Given the description of an element on the screen output the (x, y) to click on. 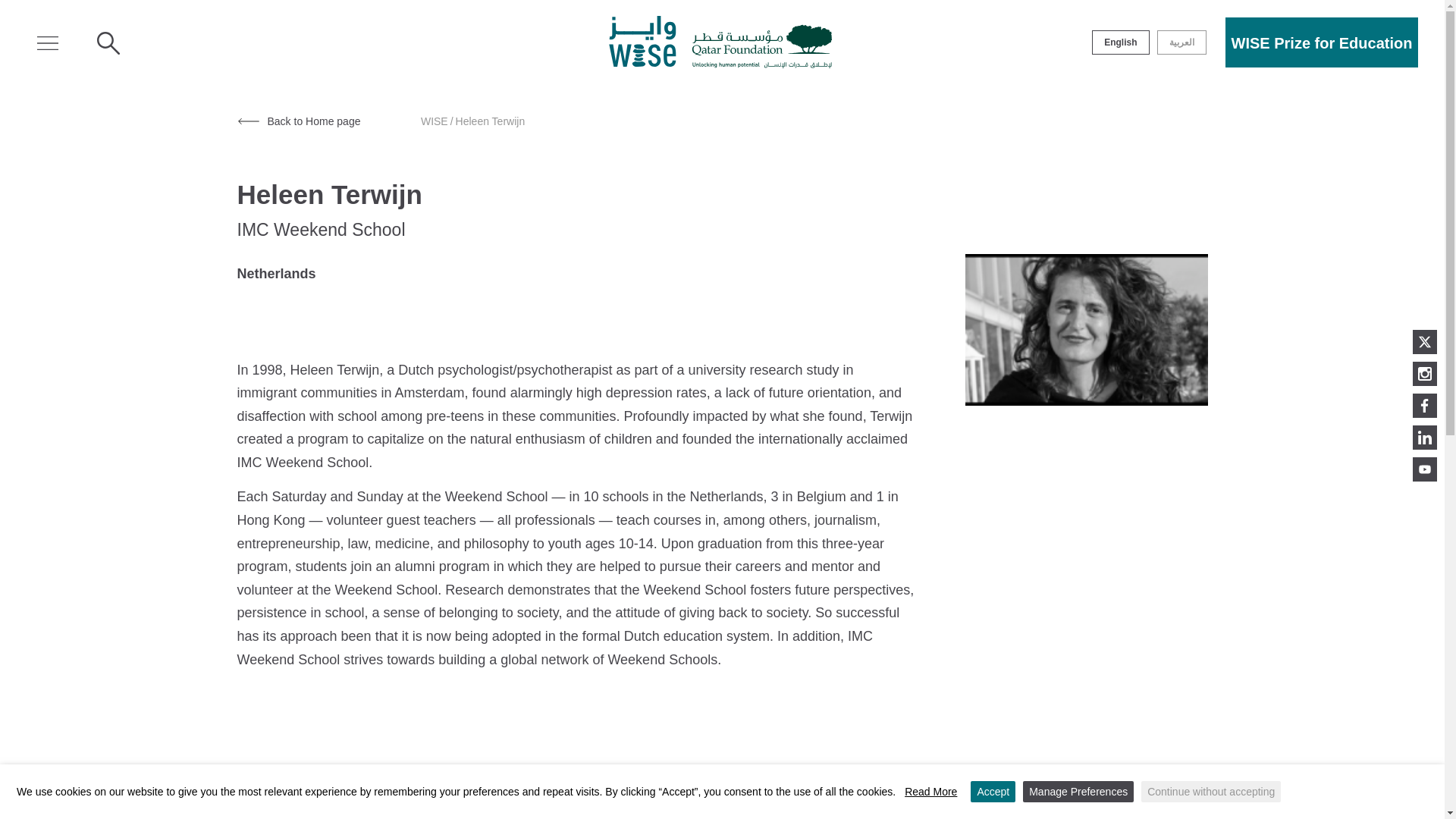
Search (108, 41)
Menu (47, 41)
Menu (47, 43)
Search (108, 42)
English (1120, 42)
Go to WISE. (434, 121)
WISE Prize for Education (1321, 42)
